Given the description of an element on the screen output the (x, y) to click on. 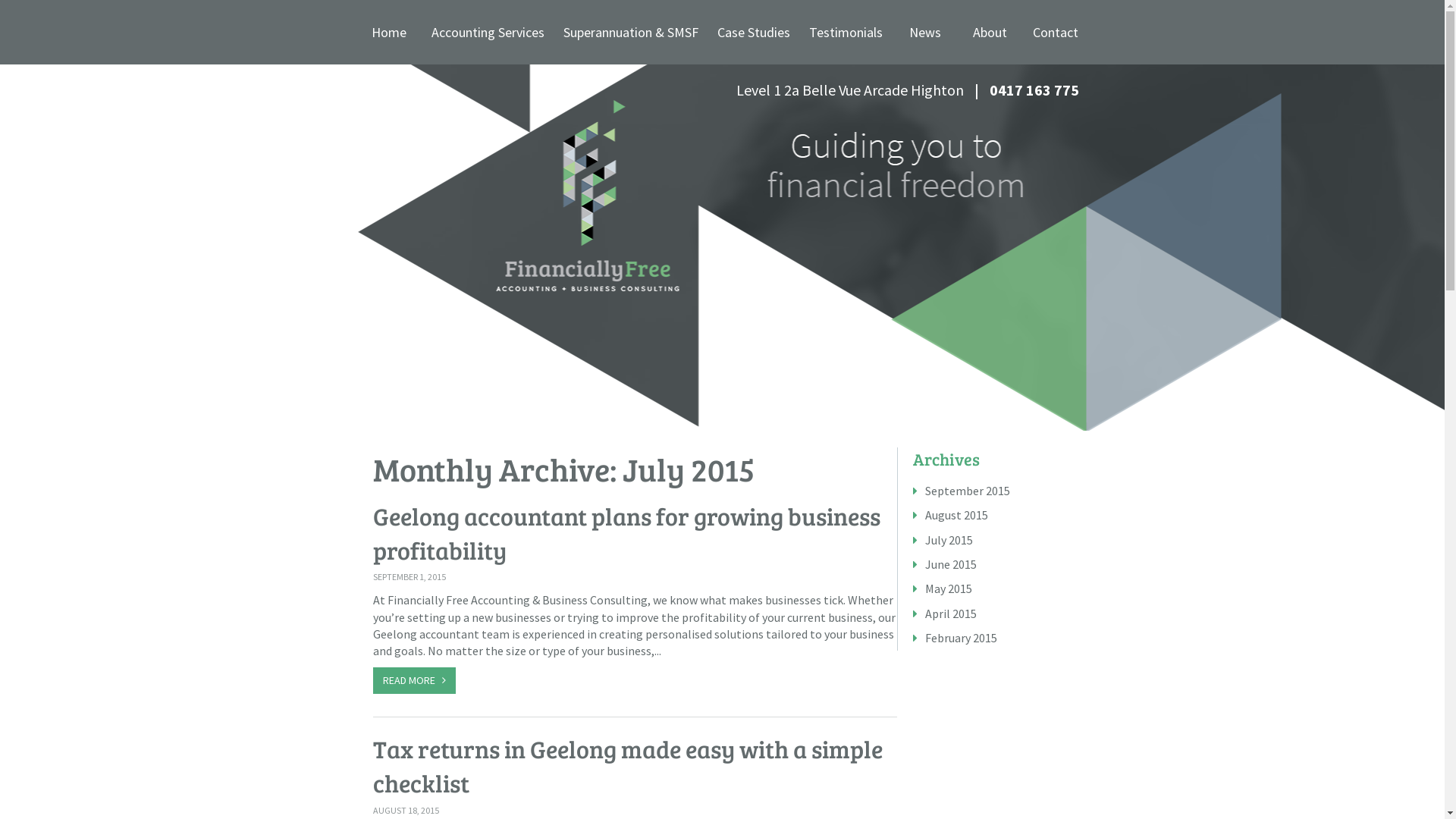
April 2015 Element type: text (950, 613)
September 2015 Element type: text (967, 490)
Superannuation & SMSF Element type: text (630, 31)
February 2015 Element type: text (961, 637)
News Element type: text (924, 31)
August 2015 Element type: text (956, 514)
READ MORE Element type: text (414, 680)
June 2015 Element type: text (950, 563)
Home Element type: text (388, 31)
Accounting Services Element type: text (487, 31)
Case Studies Element type: text (753, 31)
Testimonials Element type: text (845, 31)
Tax returns in Geelong made easy with a simple checklist Element type: text (627, 766)
May 2015 Element type: text (948, 588)
About Element type: text (989, 31)
Geelong accountant plans for growing business profitability Element type: text (626, 533)
July 2015 Element type: text (948, 539)
Contact Element type: text (1055, 31)
